Given the description of an element on the screen output the (x, y) to click on. 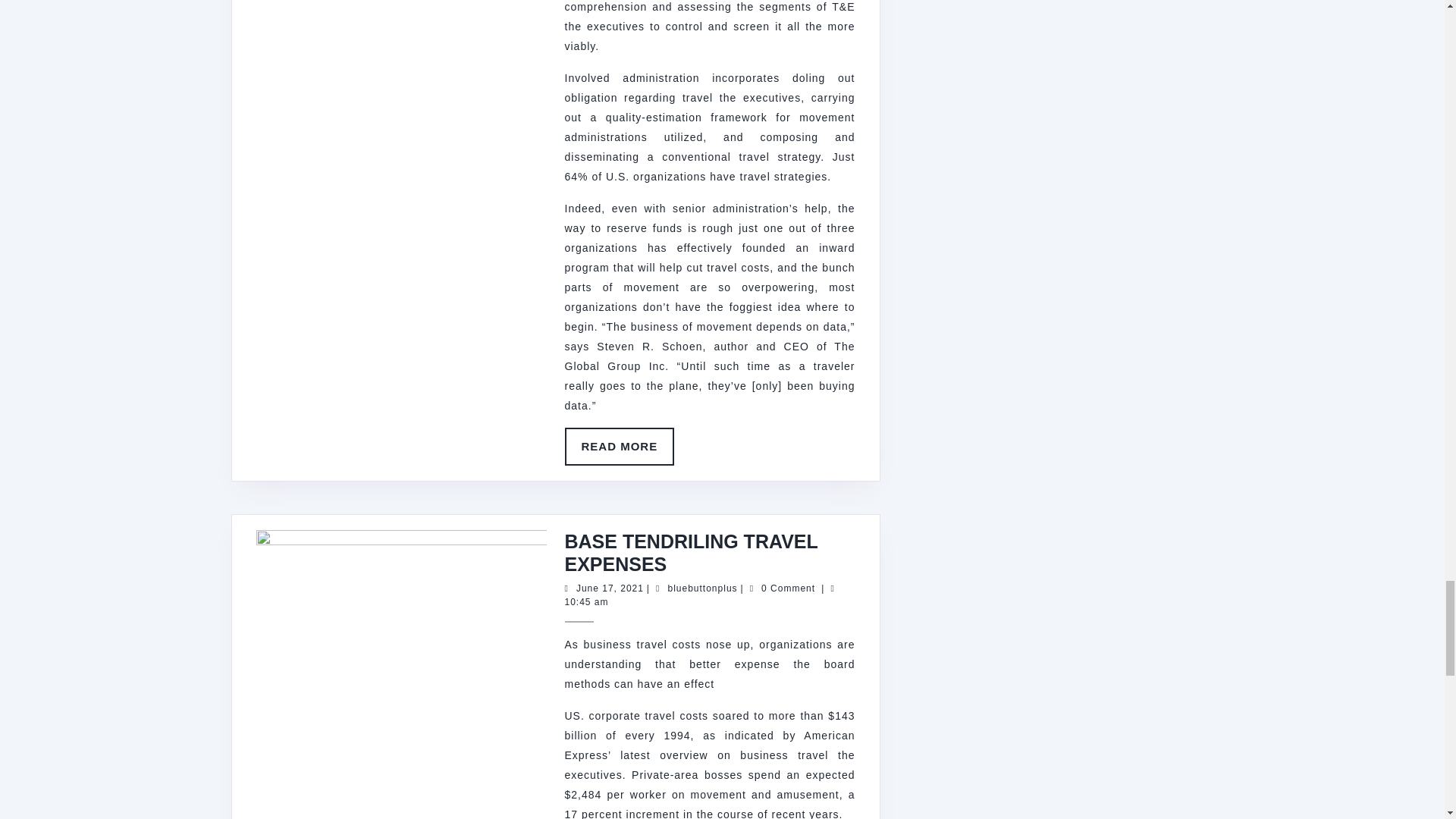
Base Tendriling Travel Expenses (690, 552)
